Given the description of an element on the screen output the (x, y) to click on. 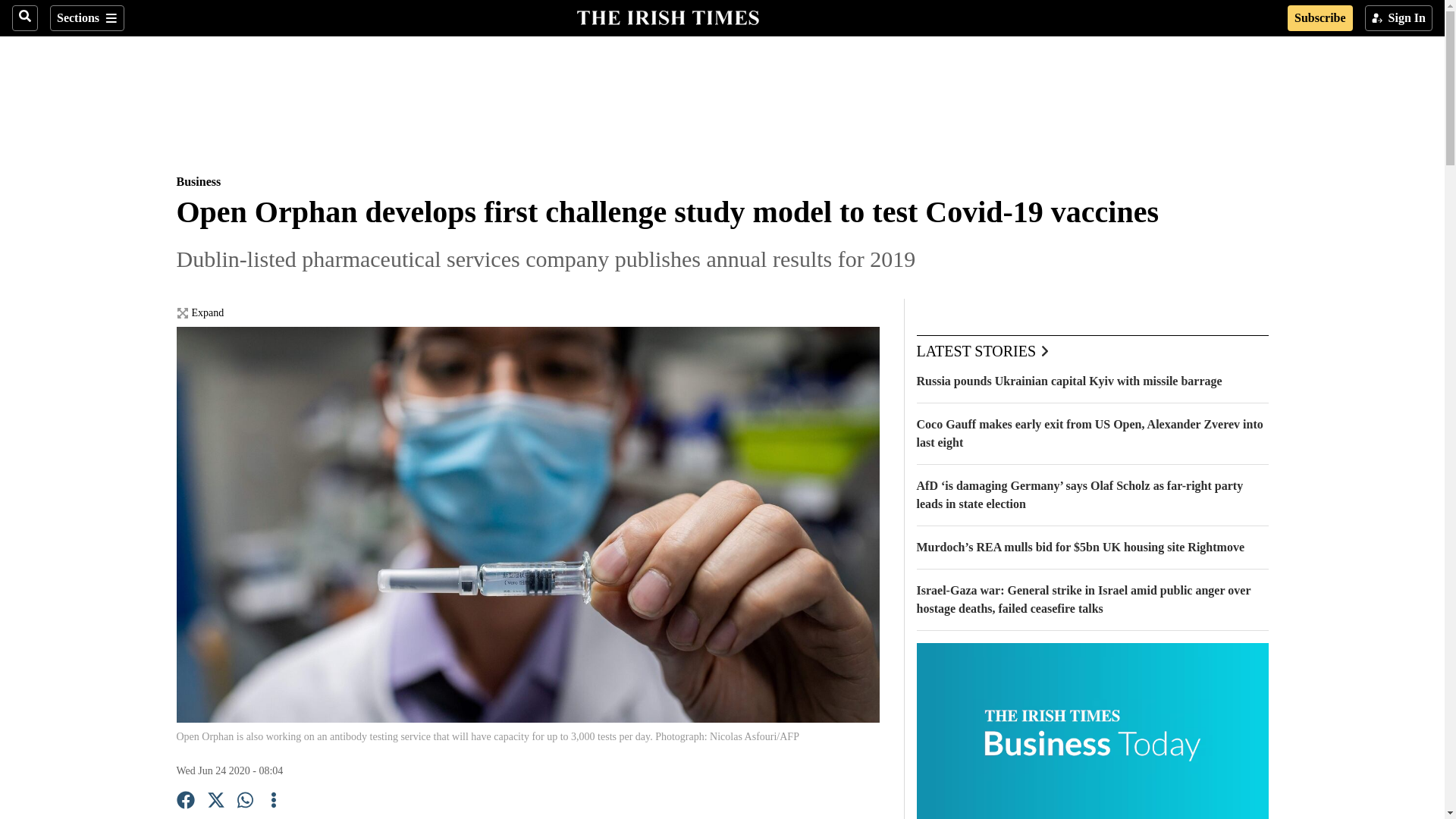
Sign In (1398, 17)
The Irish Times (667, 16)
Sections (86, 17)
Subscribe (1319, 17)
